Given the description of an element on the screen output the (x, y) to click on. 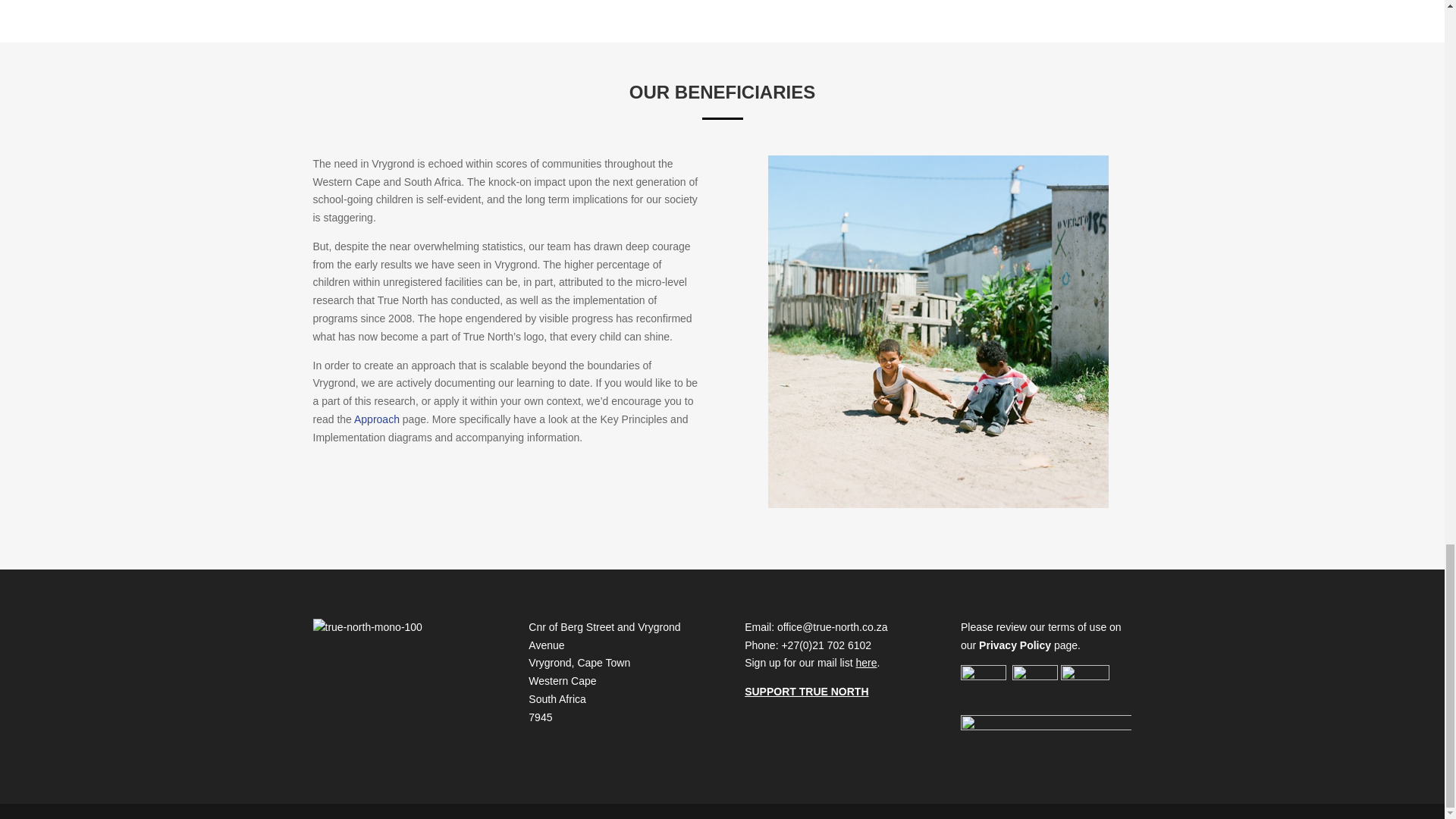
SUPPORT TRUE NORTH (805, 691)
Support (805, 691)
Mail List (866, 662)
Approach (375, 419)
 here. (866, 662)
Privacy Policy (1014, 645)
